Given the description of an element on the screen output the (x, y) to click on. 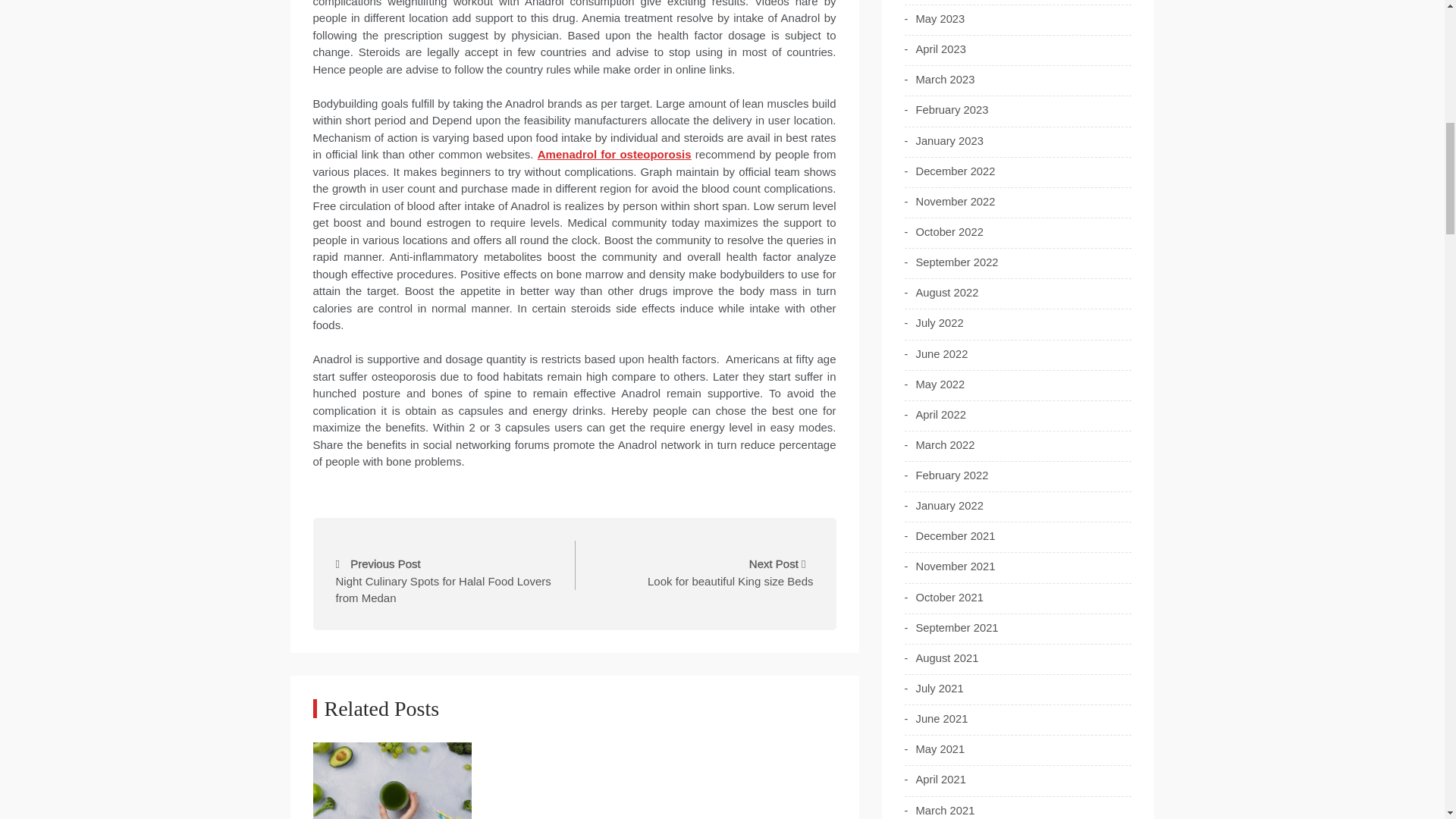
Amenadrol for osteoporosis (614, 154)
